Given the description of an element on the screen output the (x, y) to click on. 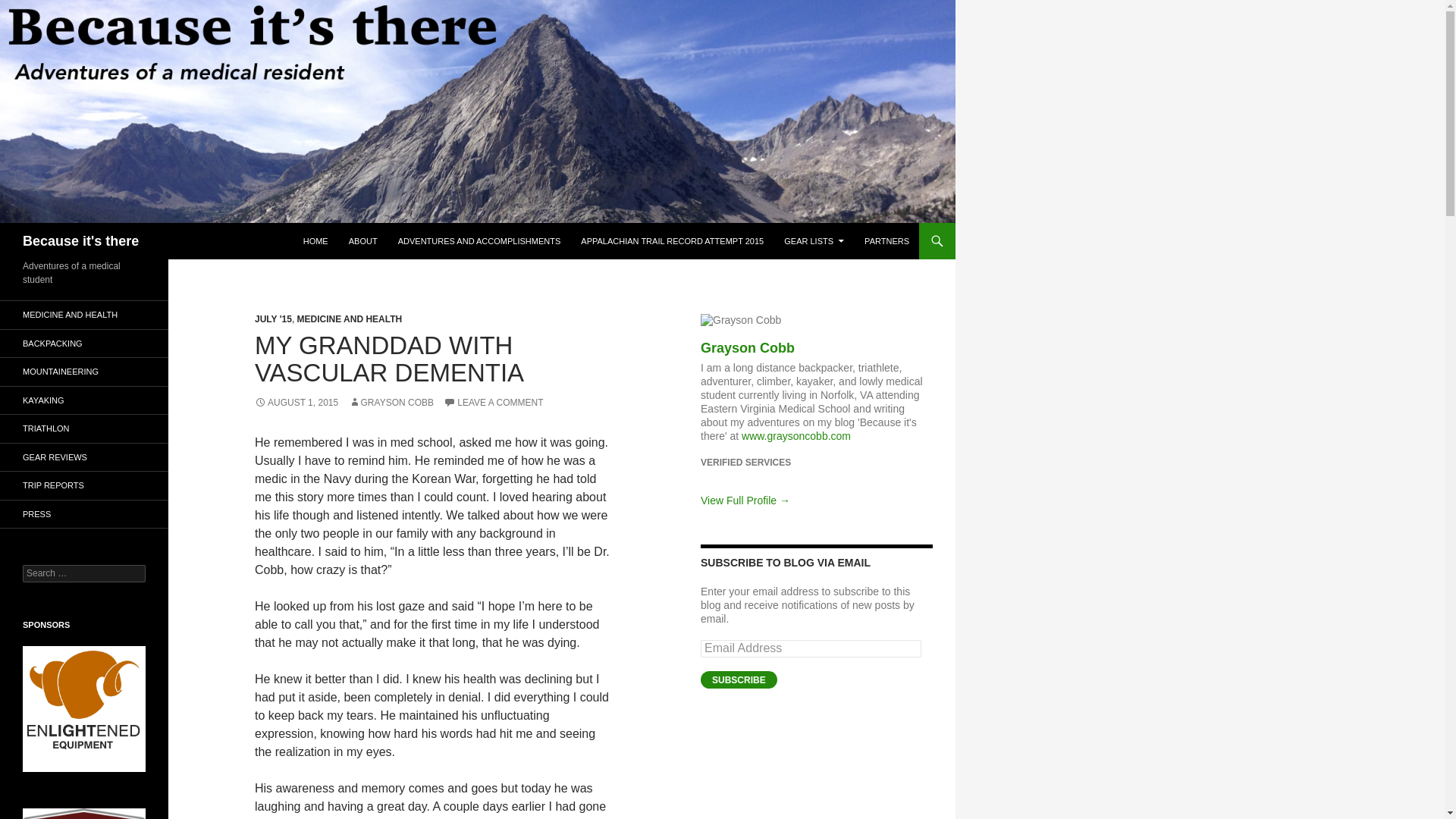
AUGUST 1, 2015 (295, 402)
APPALACHIAN TRAIL RECORD ATTEMPT 2015 (672, 240)
Grayson Cobb (747, 347)
LEAVE A COMMENT (493, 402)
Because it's there (80, 240)
MEDICINE AND HEALTH (350, 318)
ADVENTURES AND ACCOMPLISHMENTS (479, 240)
GRAYSON COBB (391, 402)
HOME (315, 240)
GEAR LISTS (813, 240)
www.graysoncobb.com (795, 435)
ABOUT (363, 240)
PARTNERS (887, 240)
